Given the description of an element on the screen output the (x, y) to click on. 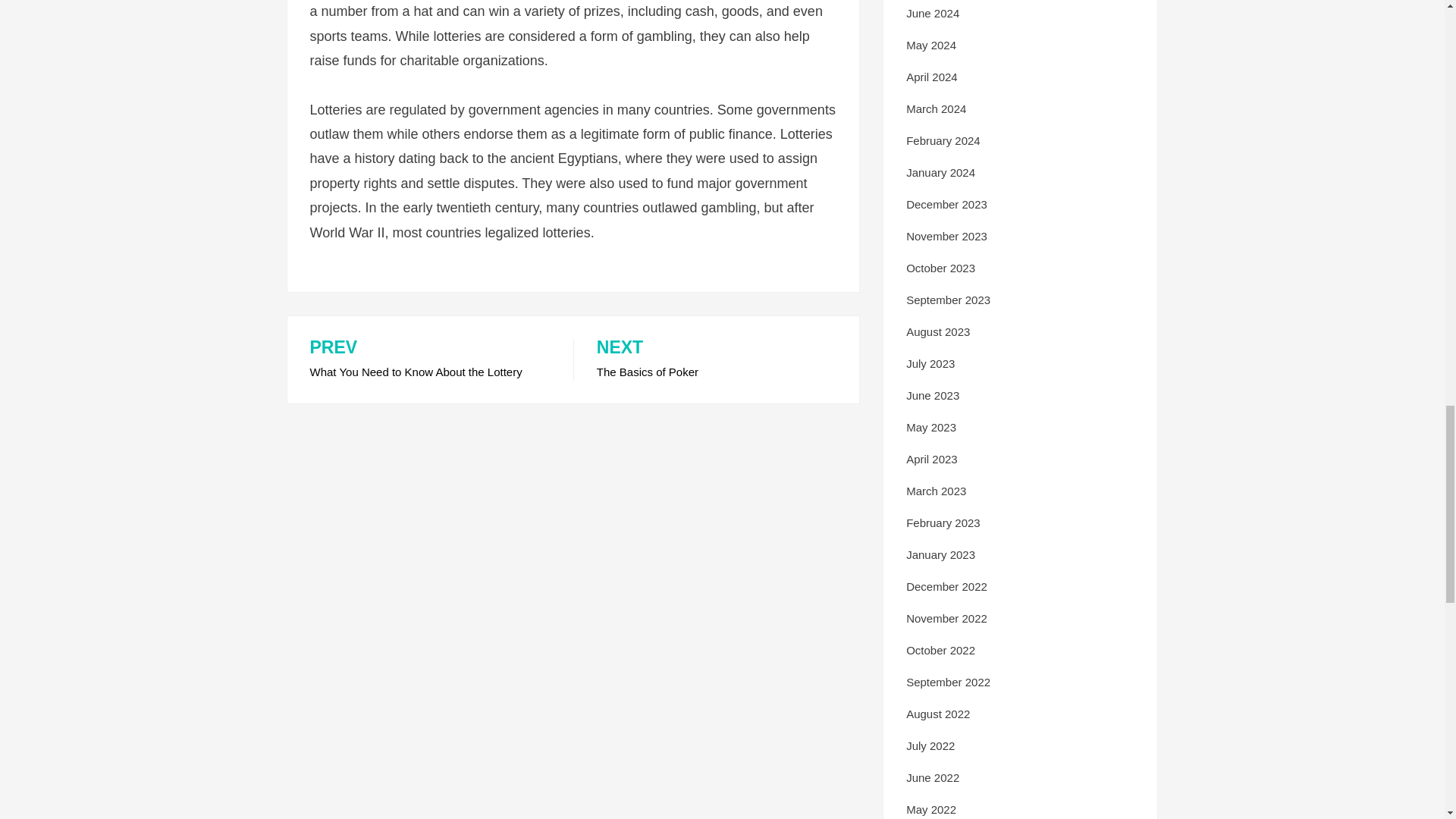
November 2023 (946, 236)
September 2023 (947, 299)
March 2024 (935, 108)
January 2024 (940, 172)
February 2024 (942, 140)
December 2023 (429, 360)
May 2024 (946, 204)
June 2024 (930, 44)
April 2024 (932, 12)
October 2023 (715, 360)
